Given the description of an element on the screen output the (x, y) to click on. 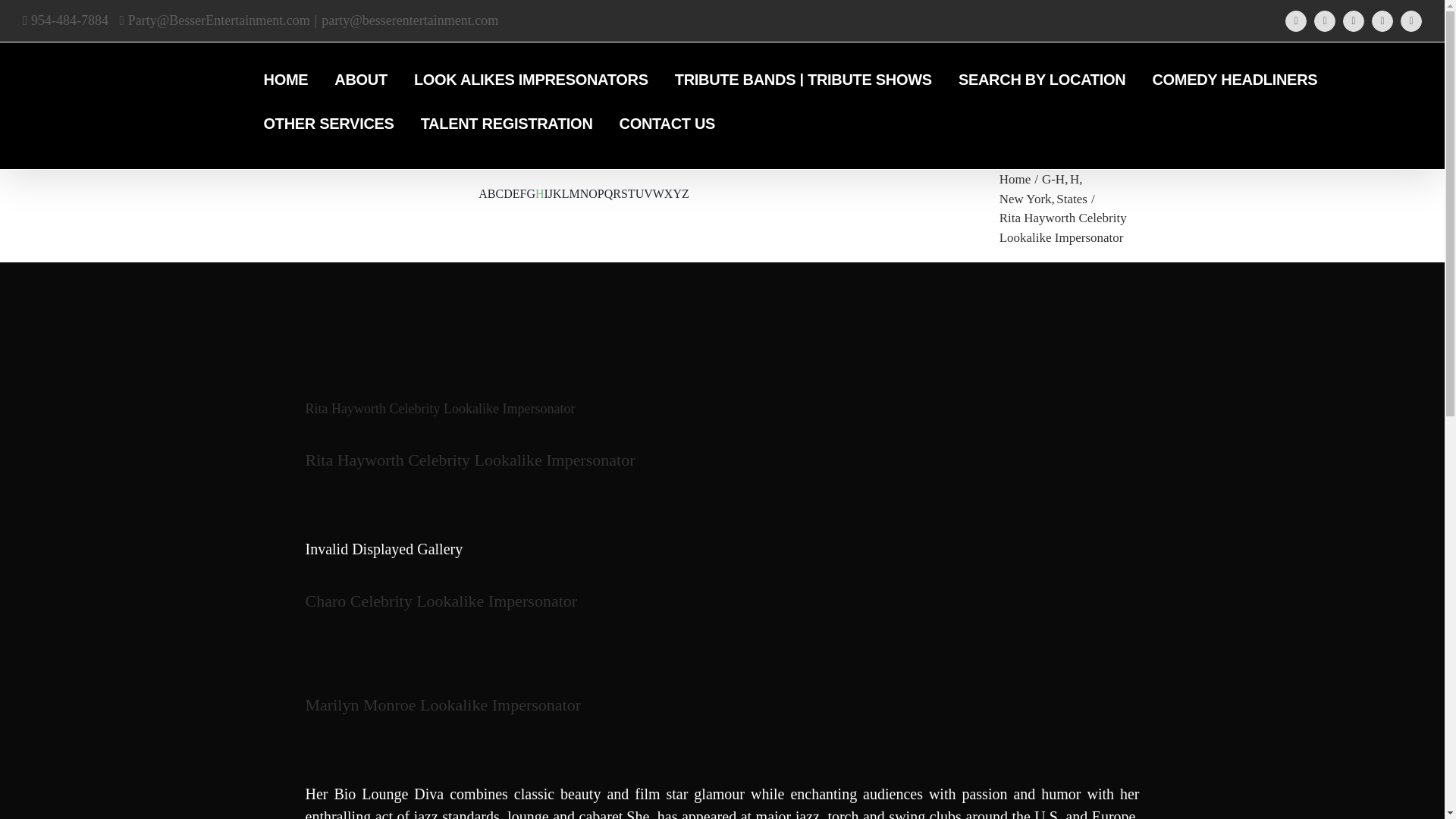
HOME (285, 79)
Instagram (1382, 20)
X (1353, 20)
954-484-7884 (65, 20)
X (1353, 20)
Facebook (1295, 20)
YouTube (1324, 20)
Facebook (1295, 20)
LinkedIn (1411, 20)
LOOK ALIKES IMPRESONATORS (530, 79)
